Given the description of an element on the screen output the (x, y) to click on. 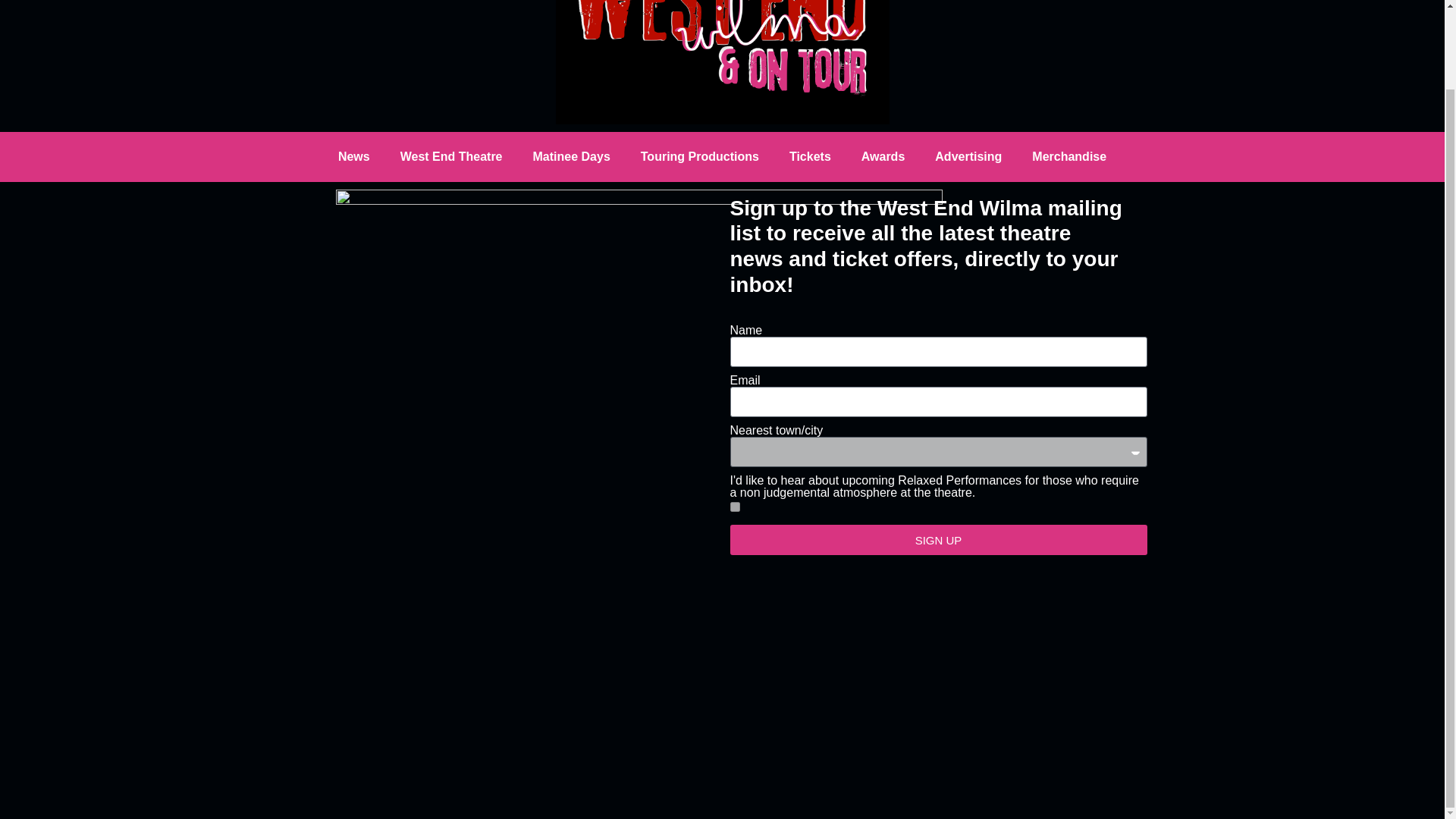
Awards (882, 156)
Merchandise (1068, 156)
West End Theatre (451, 156)
Matinee Days (572, 156)
Tickets (809, 156)
SIGN UP (938, 539)
Advertising (968, 156)
News (354, 156)
Touring Productions (700, 156)
